Given the description of an element on the screen output the (x, y) to click on. 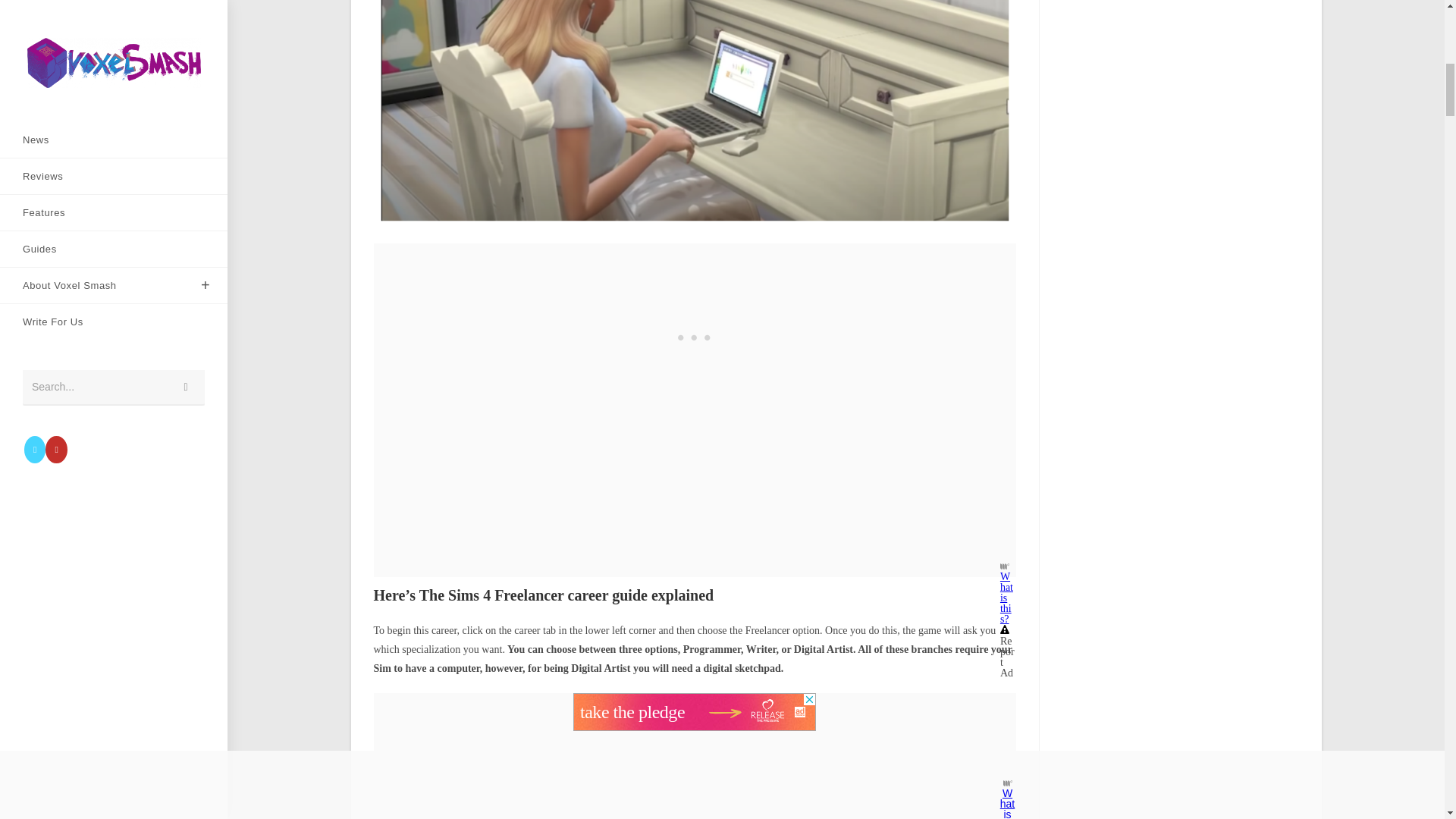
3rd party ad content (694, 338)
3rd party ad content (694, 711)
